Given the description of an element on the screen output the (x, y) to click on. 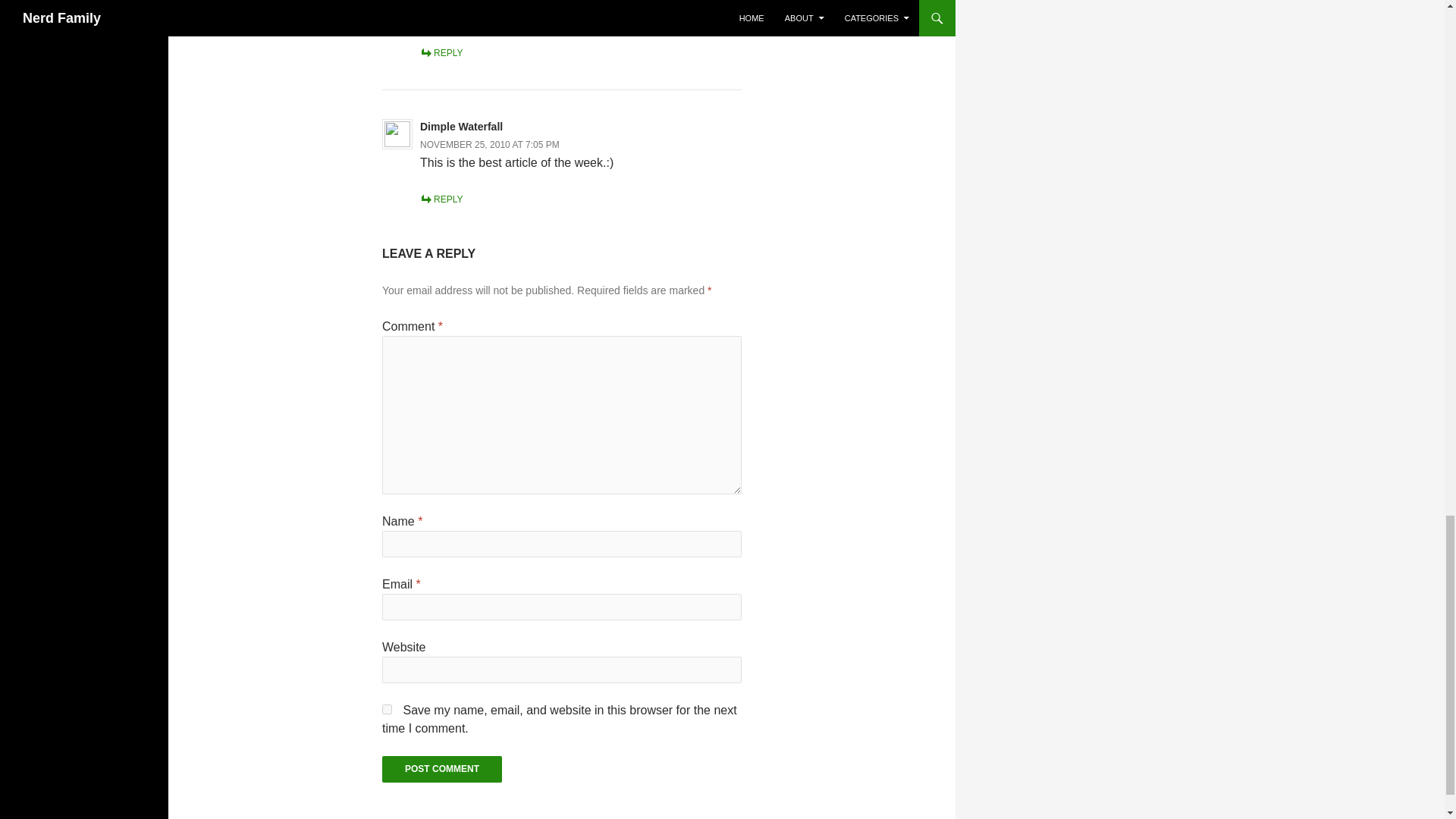
REPLY (441, 52)
Dimple Waterfall (461, 126)
yes (386, 709)
REPLY (441, 199)
Post Comment (441, 768)
NOVEMBER 25, 2010 AT 7:05 PM (489, 144)
Post Comment (441, 768)
